Given the description of an element on the screen output the (x, y) to click on. 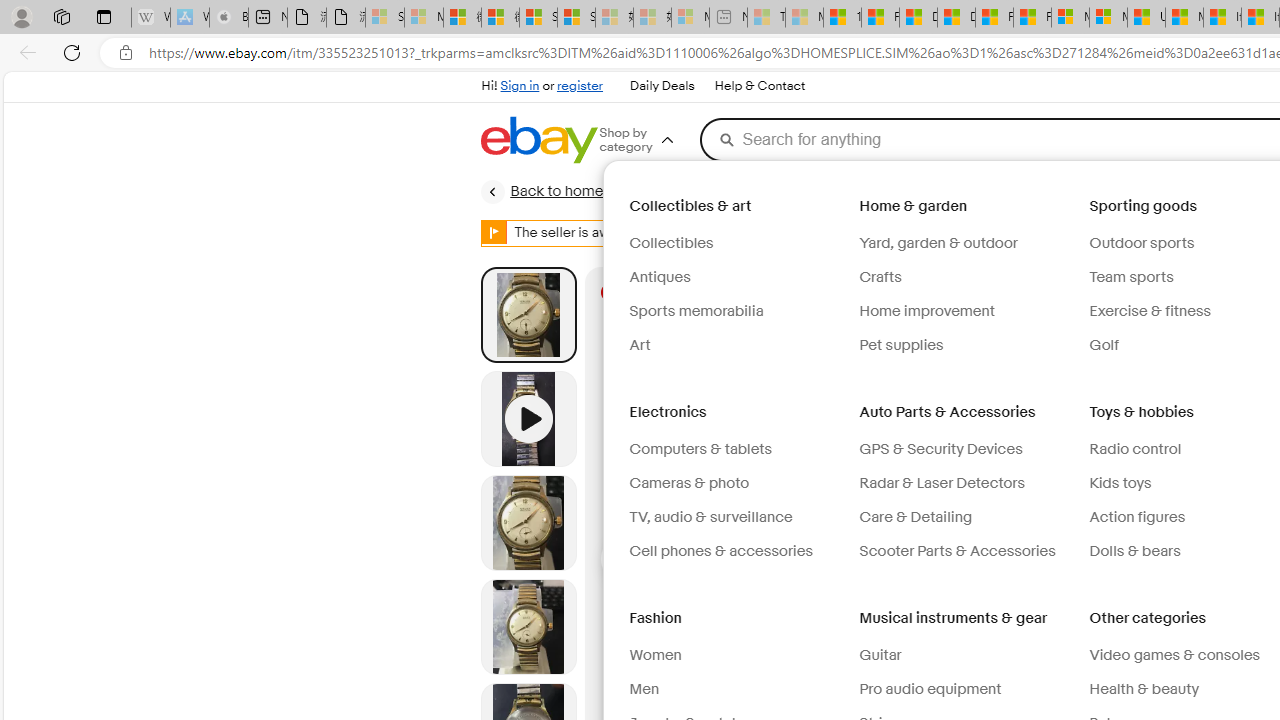
Top Stories - MSN - Sleeping (765, 17)
Sporting goods (1145, 206)
Jewelry & Watches (722, 191)
Food and Drink - MSN (879, 17)
Picture 3 of 13 (528, 625)
TV, audio & surveillance (710, 516)
Help & Contact (760, 86)
Video 1 of 1 (528, 418)
Picture 2 of 13 (528, 521)
Pet supplies (966, 345)
Crafts (880, 277)
Previous image - Item images thumbnails (624, 558)
